Given the description of an element on the screen output the (x, y) to click on. 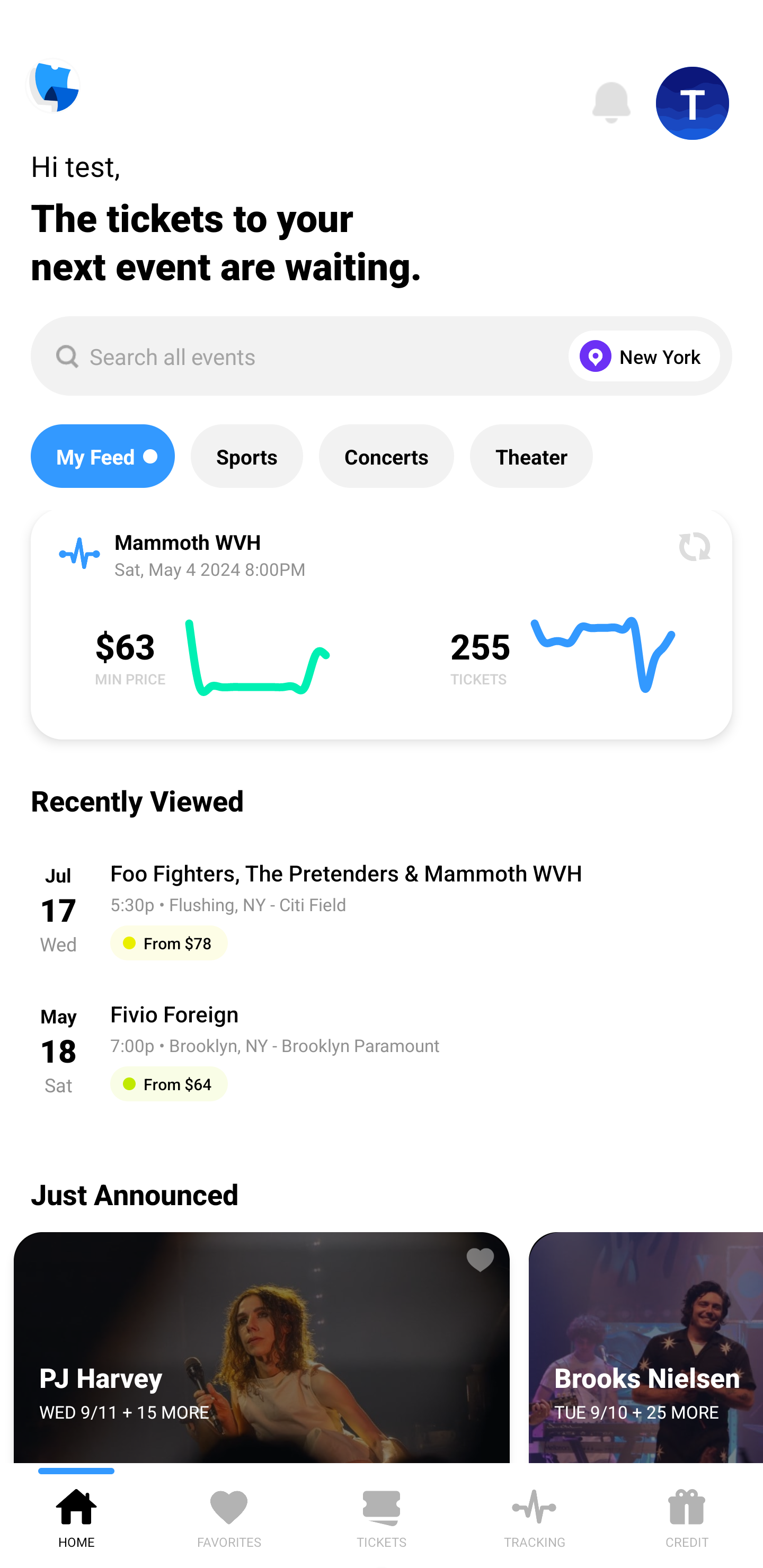
T (692, 103)
New York (640, 355)
My Feed (102, 455)
Sports (246, 455)
Concerts (385, 455)
Theater (531, 455)
HOME (76, 1515)
FAVORITES (228, 1515)
TICKETS (381, 1515)
TRACKING (533, 1515)
CREDIT (686, 1515)
